Given the description of an element on the screen output the (x, y) to click on. 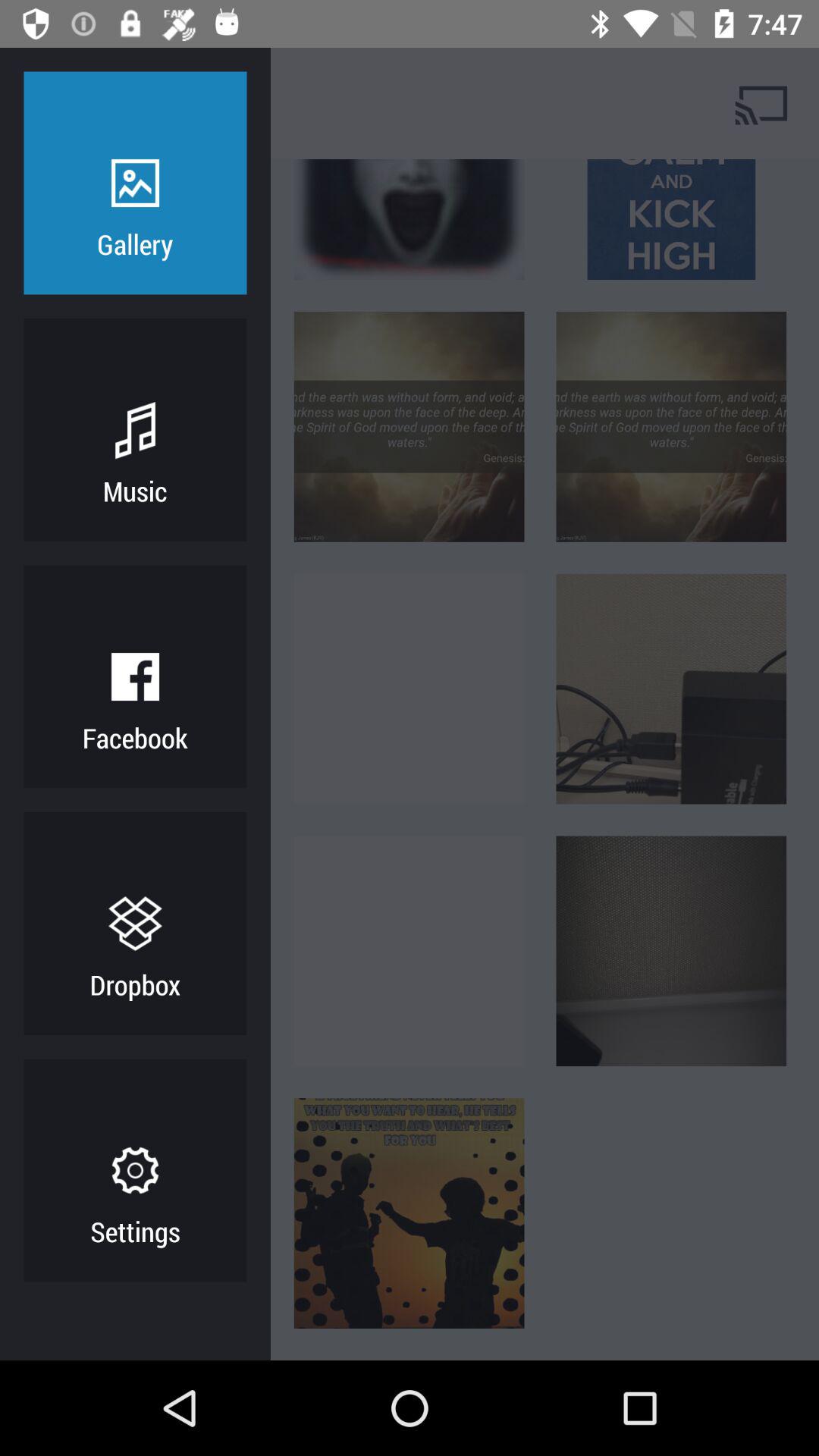
jump to facebook (134, 737)
